Given the description of an element on the screen output the (x, y) to click on. 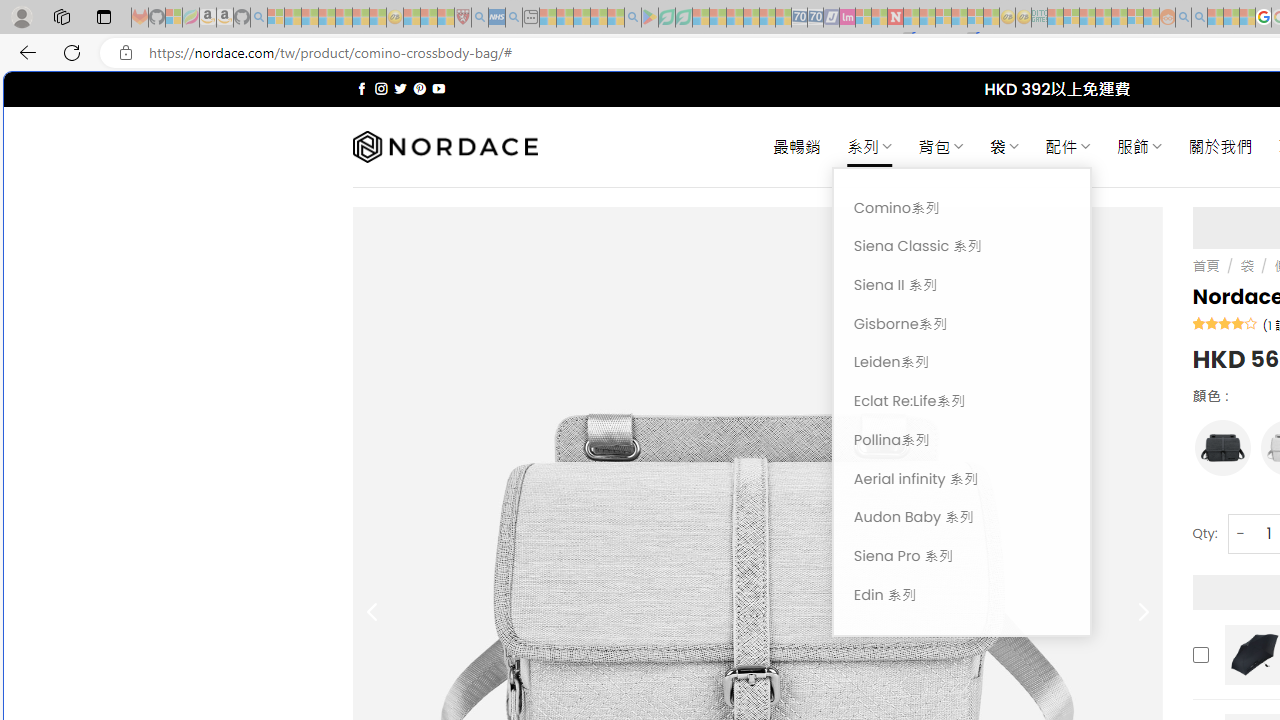
Latest Politics News & Archive | Newsweek.com - Sleeping (895, 17)
- (1240, 532)
